Given the description of an element on the screen output the (x, y) to click on. 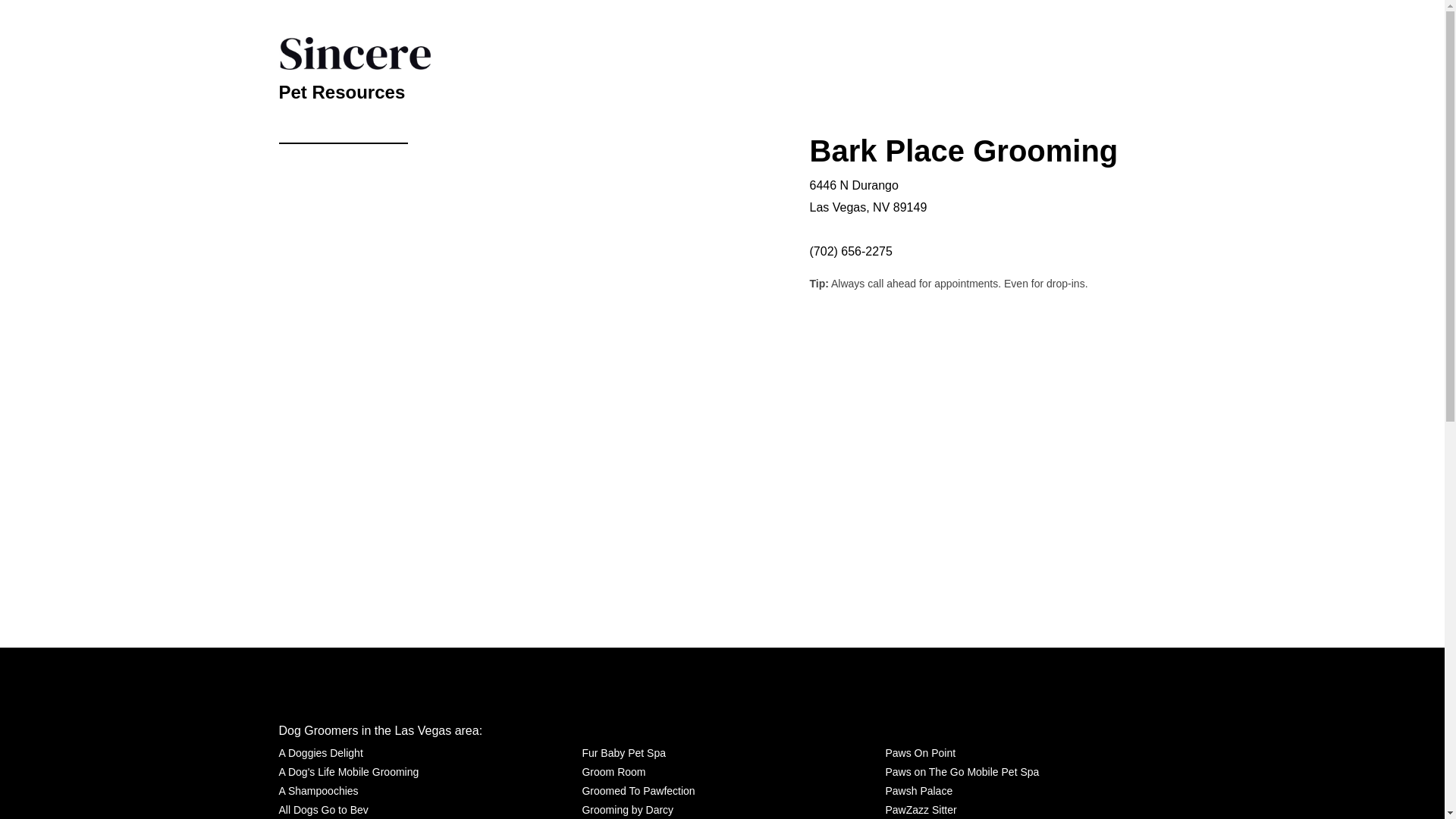
A Doggies Delight (320, 752)
A Dog's Life Mobile Grooming (349, 772)
A Shampoochies (318, 791)
Dog Groomers in the Las Vegas area: (381, 730)
Fur Baby Pet Spa (622, 752)
Pet Resources (342, 89)
All Dogs Go to Bev (323, 809)
